Given the description of an element on the screen output the (x, y) to click on. 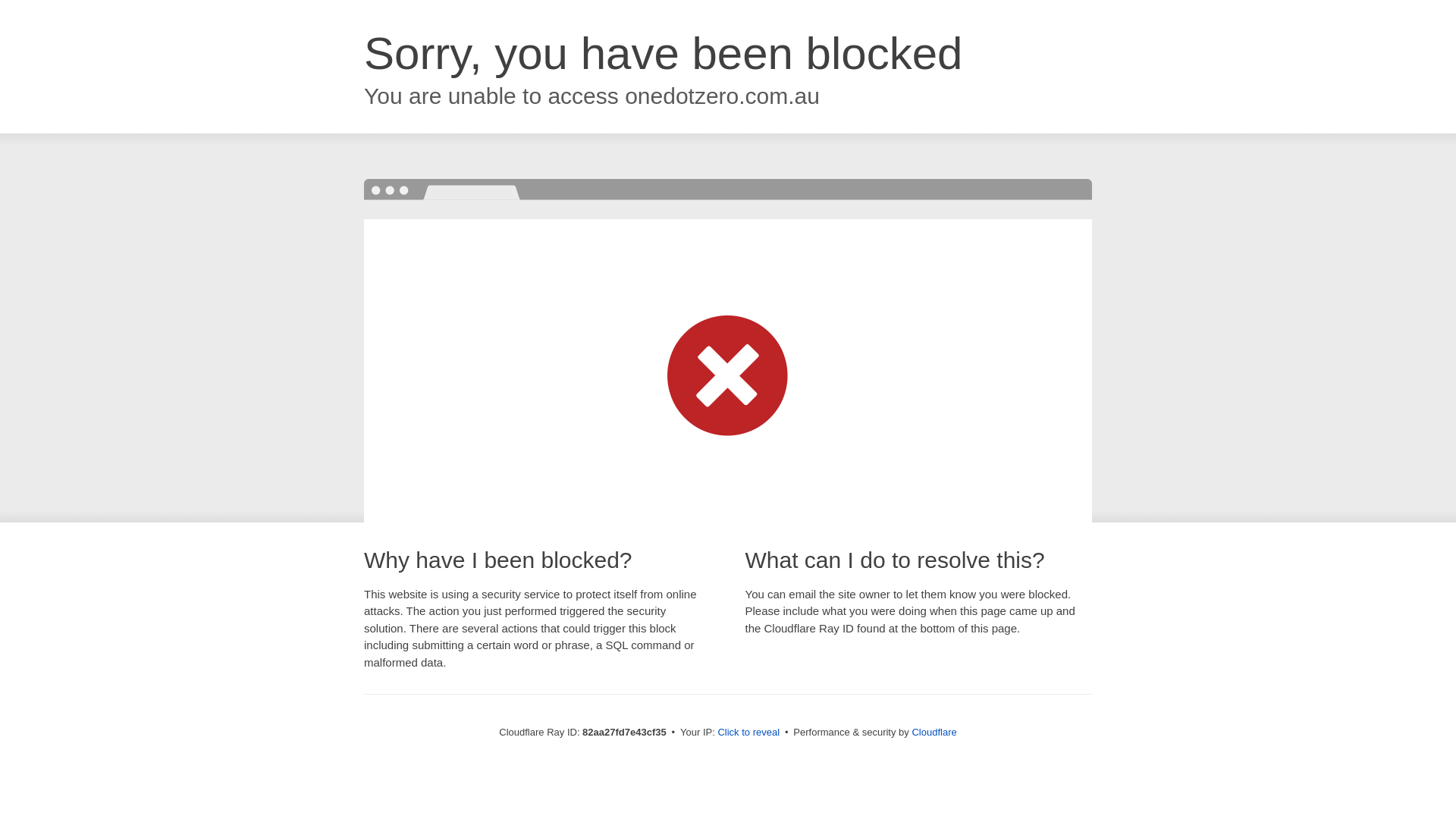
Click to reveal Element type: text (748, 732)
Cloudflare Element type: text (933, 731)
